Given the description of an element on the screen output the (x, y) to click on. 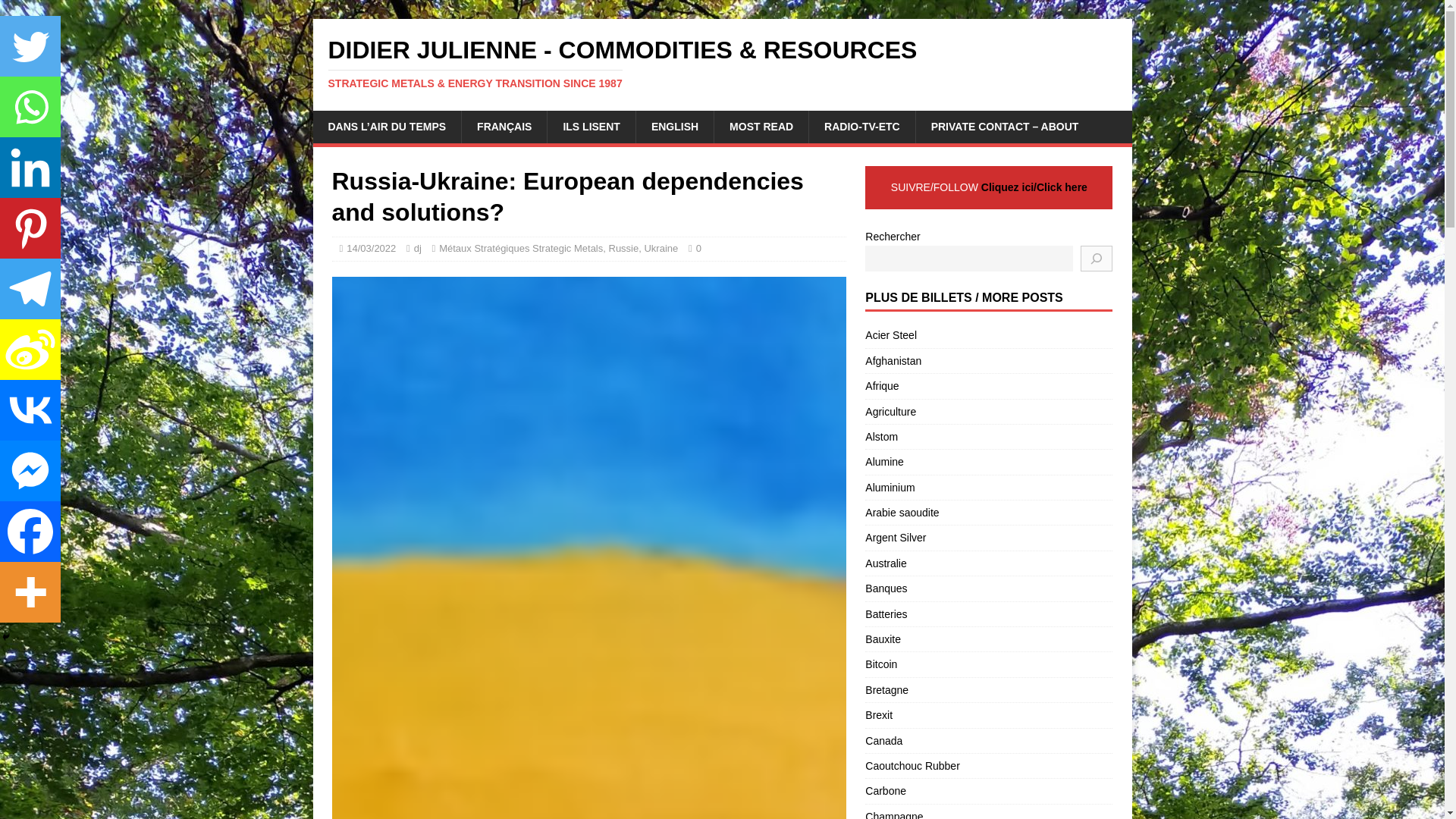
MOST READ (760, 126)
Pinterest (30, 228)
Russie (623, 247)
Linkedin (30, 167)
ENGLISH (673, 126)
Whatsapp (30, 106)
Sina Weibo (30, 349)
Telegram (30, 288)
ILS LISENT (590, 126)
RADIO-TV-ETC (861, 126)
Twitter (30, 45)
Vkontakte (30, 410)
Ukraine (660, 247)
